Given the description of an element on the screen output the (x, y) to click on. 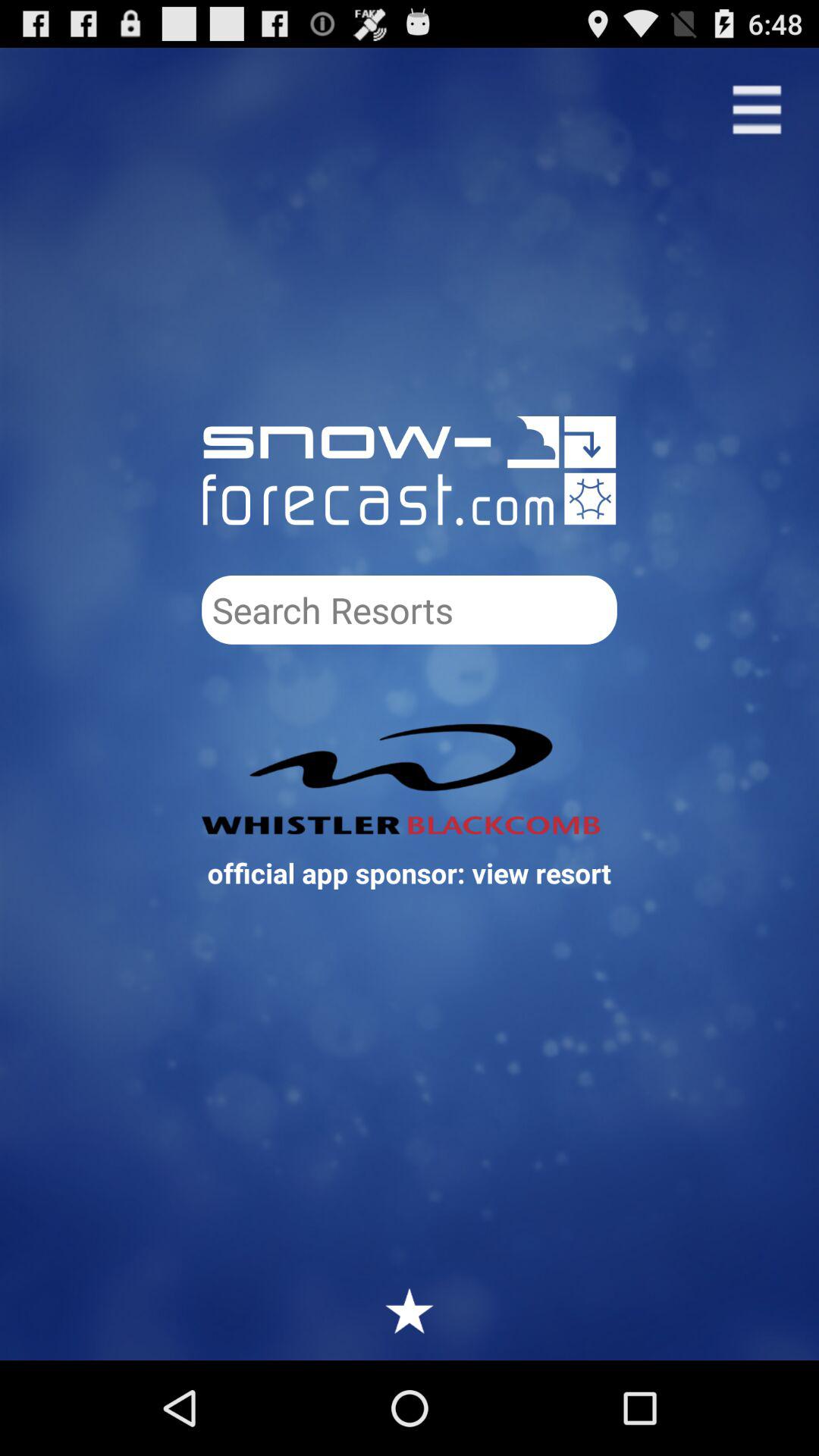
write a review (409, 1310)
